Given the description of an element on the screen output the (x, y) to click on. 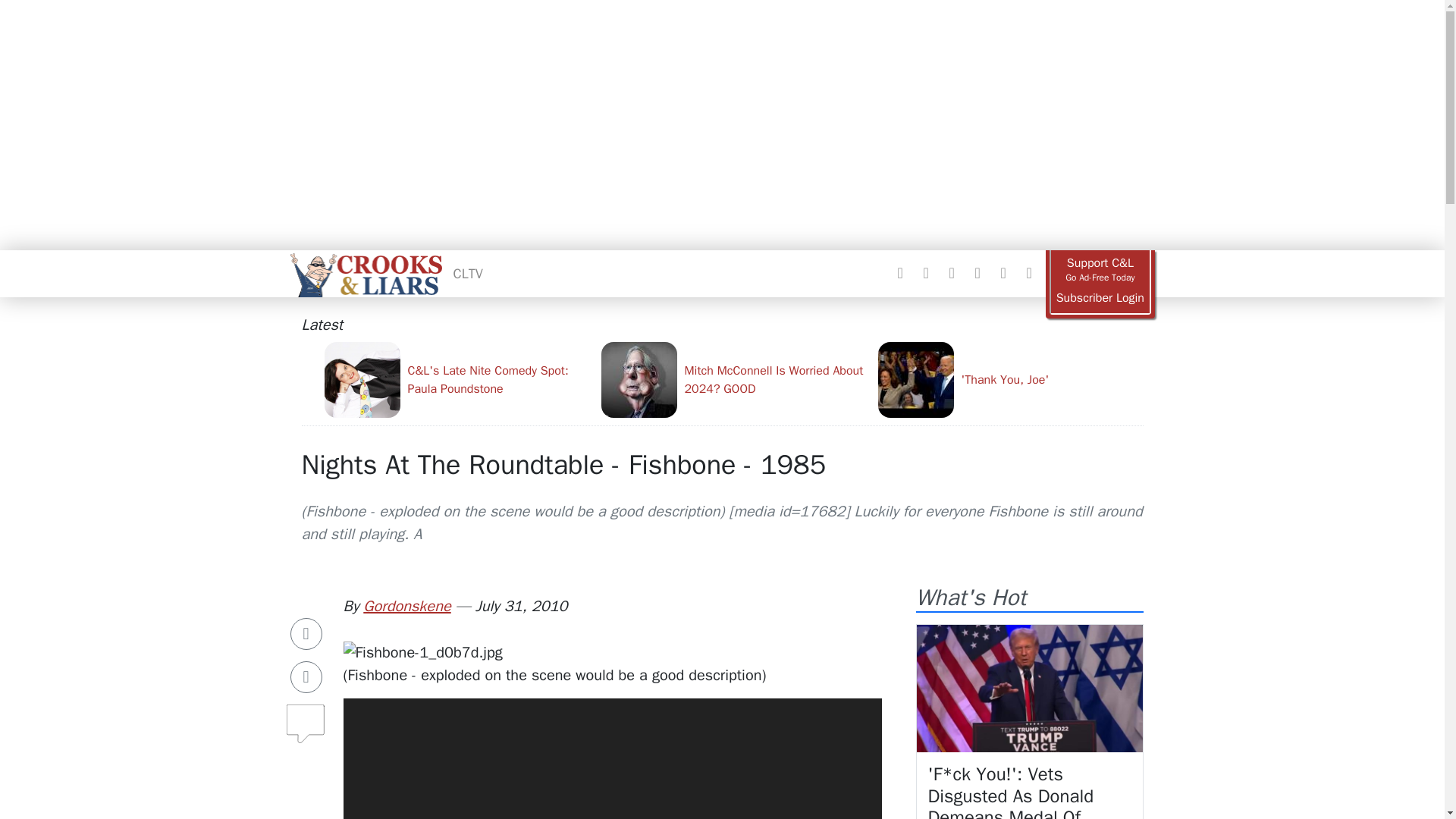
CLTV (467, 273)
Comments (306, 717)
'Thank You, Joe' (1009, 379)
Go ad free today! (1099, 270)
Share on Twitter (306, 676)
Mitch McConnell Is Worried About 2024? GOOD (732, 379)
Subscriber Login (1099, 298)
Gordonskene (405, 606)
Nights At The Roundtable - Fishbone - 1985 (564, 464)
Login to your ad free account (1099, 298)
